Given the description of an element on the screen output the (x, y) to click on. 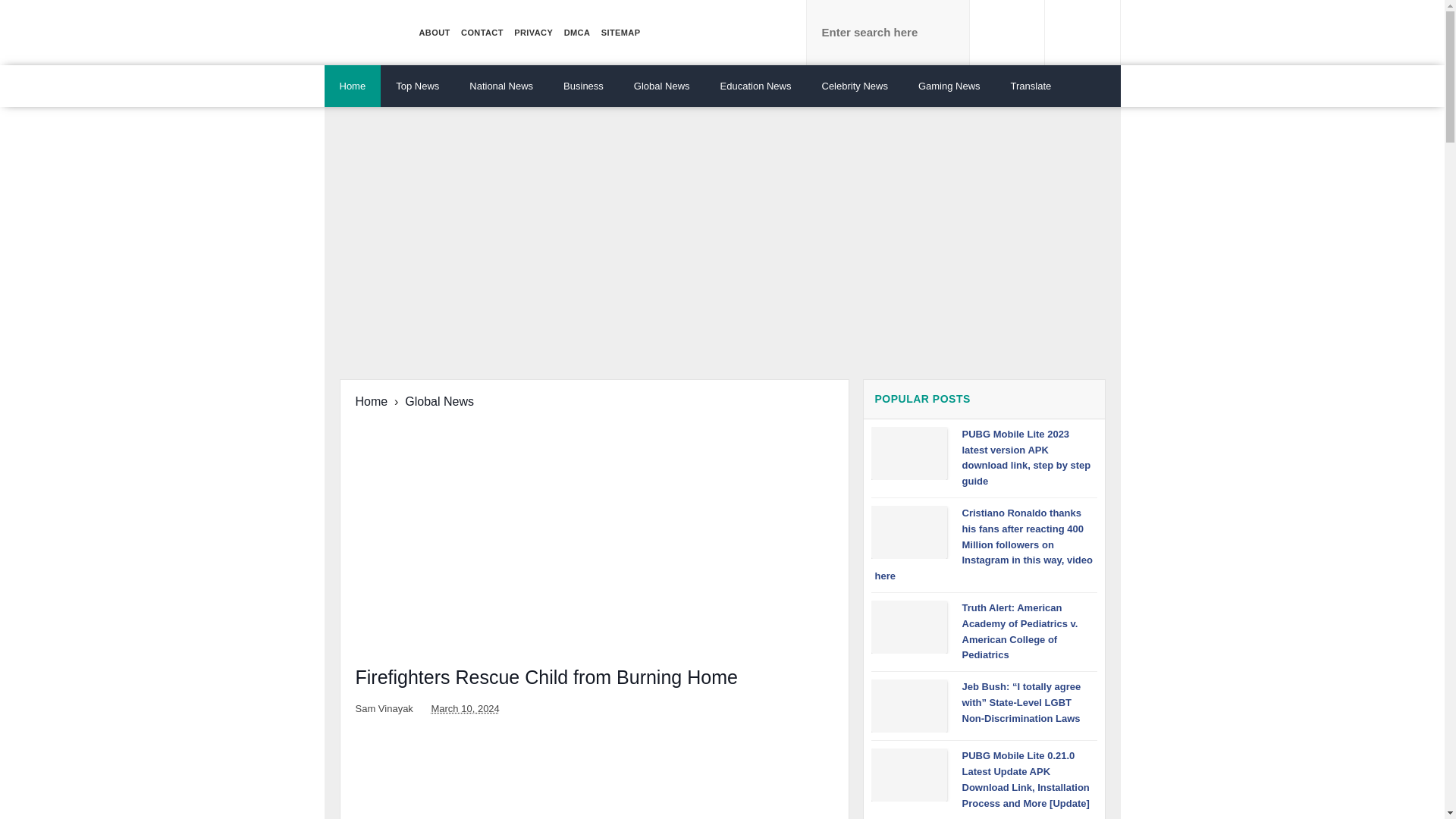
Top News (417, 86)
permanent link (464, 708)
About (434, 32)
Education News (755, 86)
Search (1007, 32)
National News (501, 86)
ABOUT (434, 32)
Celebrity News (854, 86)
Home (352, 86)
PRIVACY (533, 32)
Home (371, 400)
Firefighters Rescue Child from Burning Home (545, 676)
Menu3 (620, 32)
Translate (1031, 86)
Gaming News (948, 86)
